Given the description of an element on the screen output the (x, y) to click on. 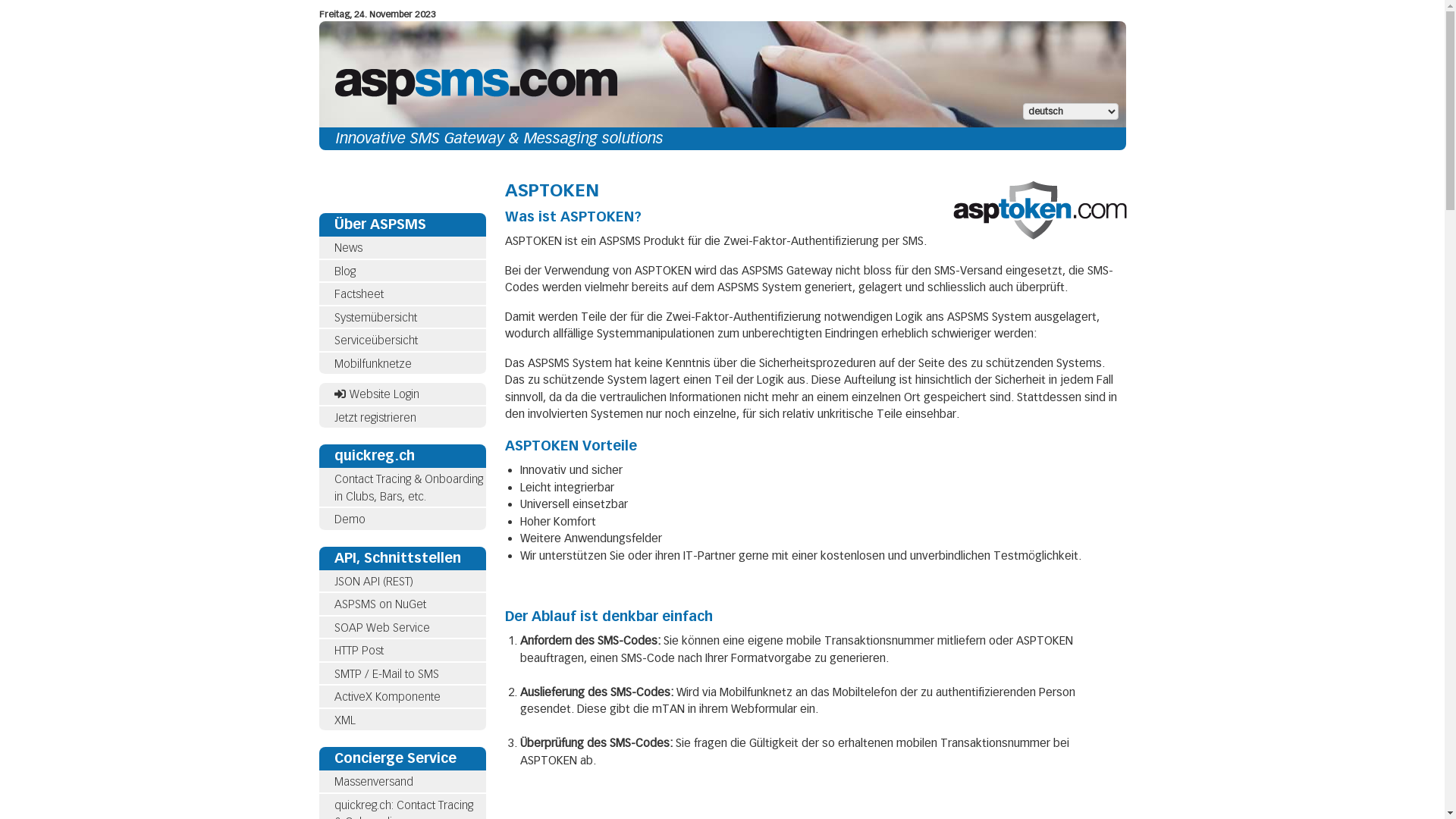
SMTP / E-Mail to SMS Element type: text (401, 674)
Demo Element type: text (348, 519)
Website Login Element type: text (375, 394)
API, Schnittstellen Element type: text (396, 557)
ActiveX Komponente Element type: text (401, 697)
HTTP Post Element type: text (401, 650)
Blog Element type: text (401, 270)
News Element type: text (401, 248)
ASPSMS on NuGet Element type: text (401, 604)
Massenversand Element type: text (372, 781)
quickreg.ch Element type: text (401, 455)
Factsheet Element type: text (357, 294)
Mobilfunknetze Element type: text (372, 363)
Blog Element type: text (343, 270)
Contact Tracing & Onboarding
in Clubs, Bars, etc. Element type: text (401, 487)
XML Element type: text (343, 719)
SOAP Web Service Element type: text (381, 626)
Massenversand Element type: text (401, 781)
Jetzt registrieren Element type: text (401, 417)
Contact Tracing & Onboarding
in Clubs, Bars, etc. Element type: text (407, 487)
Website Login Element type: text (401, 394)
News Element type: text (347, 247)
Jetzt registrieren Element type: text (374, 417)
HTTP Post Element type: text (357, 650)
quickreg.ch Element type: text (373, 455)
SMTP / E-Mail to SMS Element type: text (385, 673)
SOAP Web Service Element type: text (401, 627)
Demo Element type: text (401, 519)
API, Schnittstellen Element type: text (401, 557)
JSON API (REST) Element type: text (372, 581)
ASPSMS on NuGet Element type: text (379, 604)
Factsheet Element type: text (401, 294)
JSON API (REST) Element type: text (401, 581)
XML Element type: text (401, 719)
Mobilfunknetze Element type: text (401, 363)
ActiveX Komponente Element type: text (386, 696)
